Given the description of an element on the screen output the (x, y) to click on. 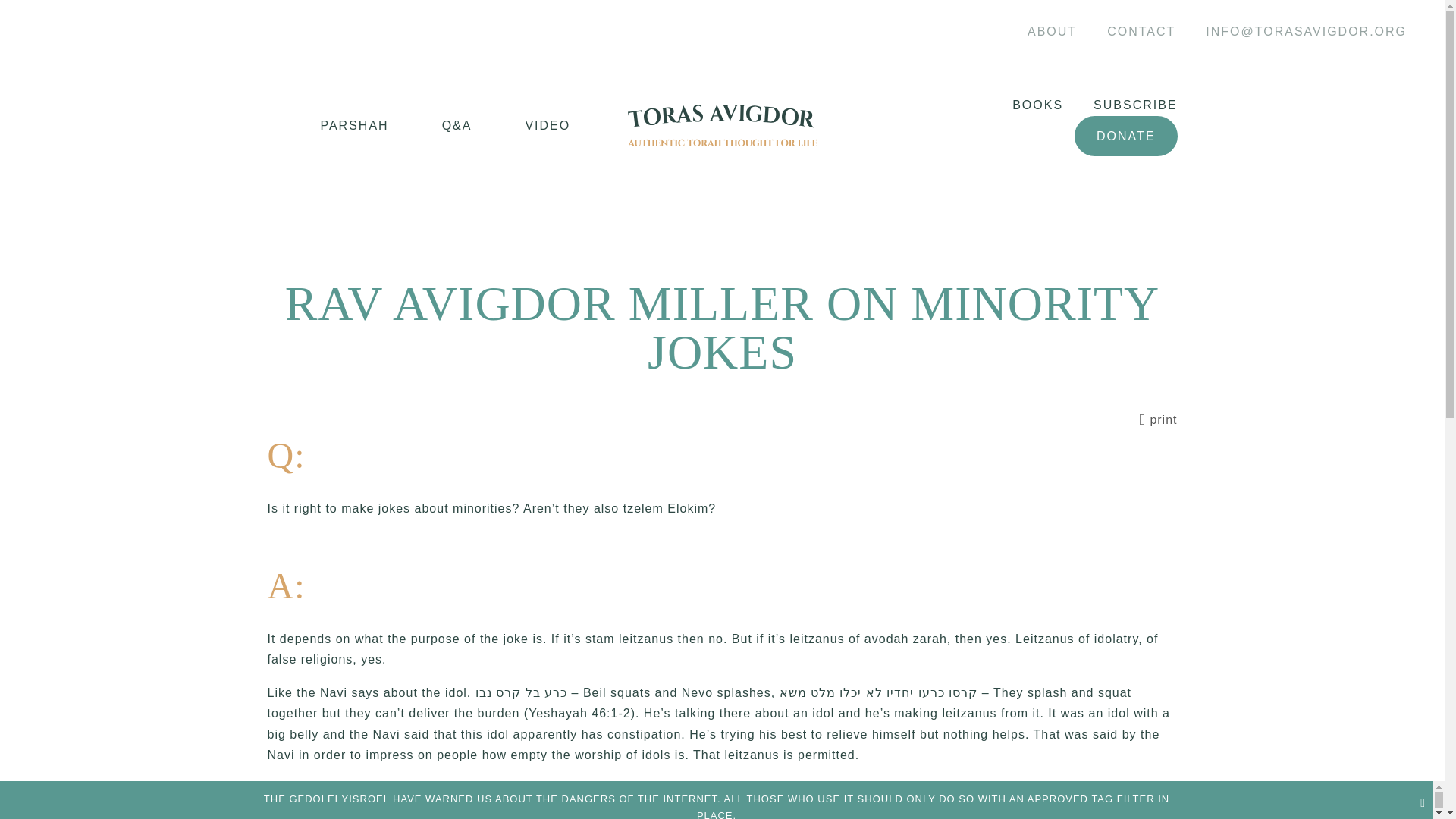
VIDEO (520, 125)
BOOKS (1021, 105)
SUBSCRIBE (1119, 105)
ABOUT (1051, 31)
PARSHAH (327, 125)
CONTACT (1141, 31)
DONATE (1125, 136)
